Given the description of an element on the screen output the (x, y) to click on. 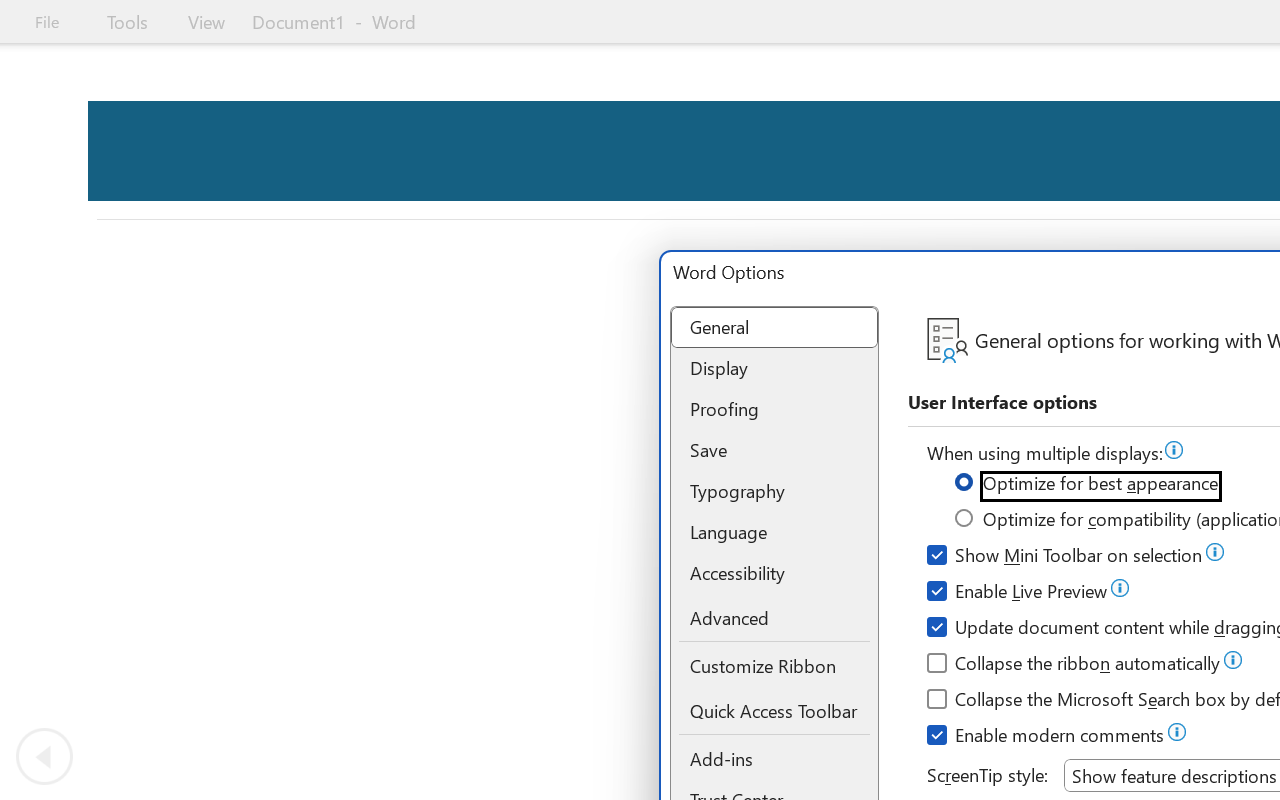
Show Mini Toolbar on selection (1065, 558)
Typography (774, 491)
Advanced (774, 619)
Enable modern comments (1046, 738)
Tools (127, 21)
Display (774, 368)
Language (774, 532)
Proofing (774, 409)
Accessibility (774, 572)
Add-ins (774, 759)
Collapse the ribbon automatically (1074, 666)
